Given the description of an element on the screen output the (x, y) to click on. 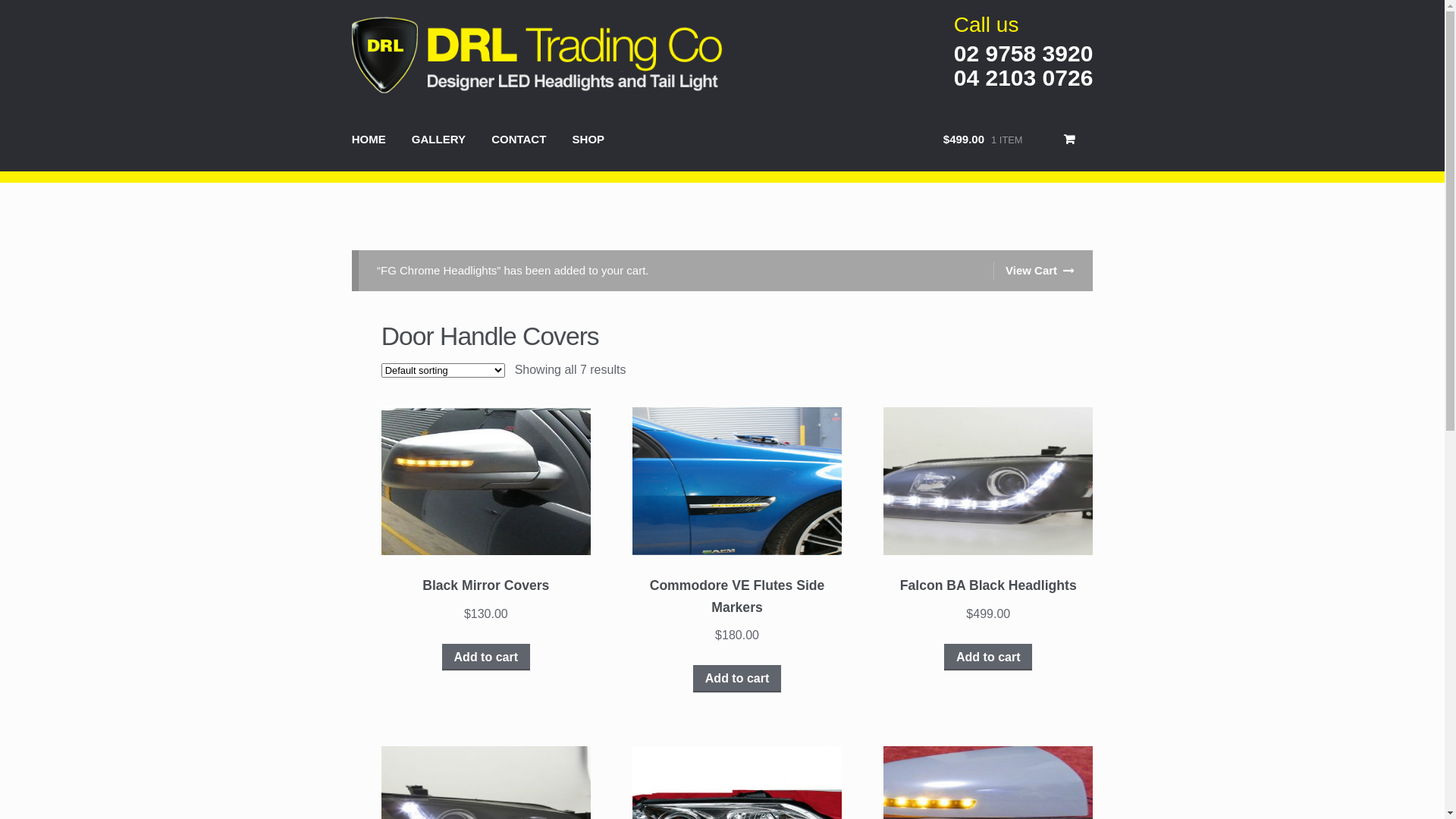
SHOP Element type: text (588, 143)
Black Mirror Covers
$130.00 Element type: text (485, 538)
Add to cart Element type: text (486, 657)
$499.00 1 ITEM Element type: text (1012, 143)
Commodore VE Flutes Side Markers
$180.00 Element type: text (736, 549)
HOME Element type: text (368, 143)
Falcon BA Black Headlights
$499.00 Element type: text (987, 538)
Add to cart Element type: text (988, 657)
Add to cart Element type: text (737, 678)
View Cart Element type: text (1033, 270)
CONTACT Element type: text (518, 143)
Skip to content Element type: text (392, 12)
Skip to navigation Element type: text (400, 12)
GALLERY Element type: text (438, 143)
